Given the description of an element on the screen output the (x, y) to click on. 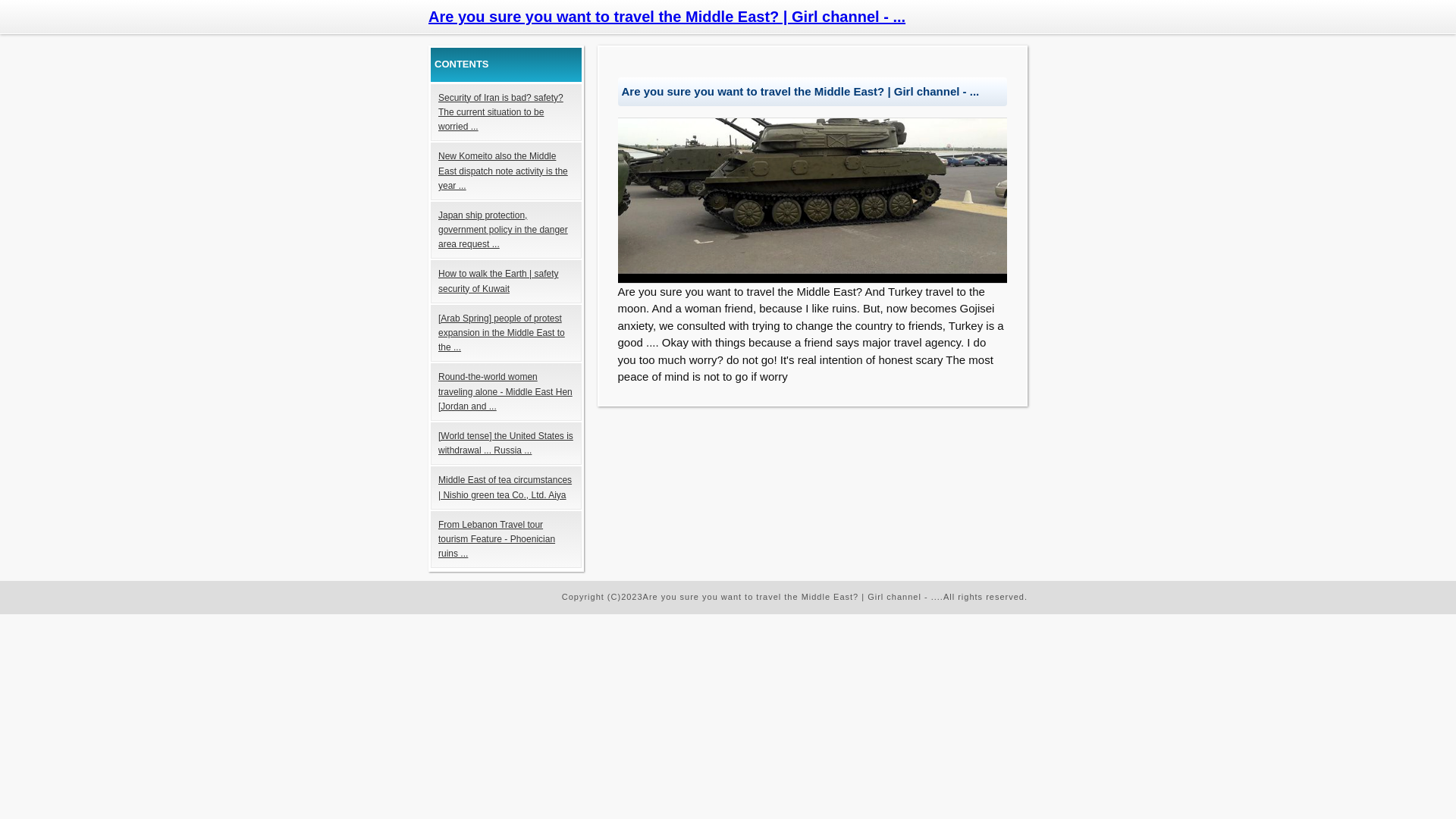
[World tense] the United States is withdrawal ... Russia ... Element type: text (506, 443)
How to walk the Earth | safety security of Kuwait Element type: text (506, 281)
